Given the description of an element on the screen output the (x, y) to click on. 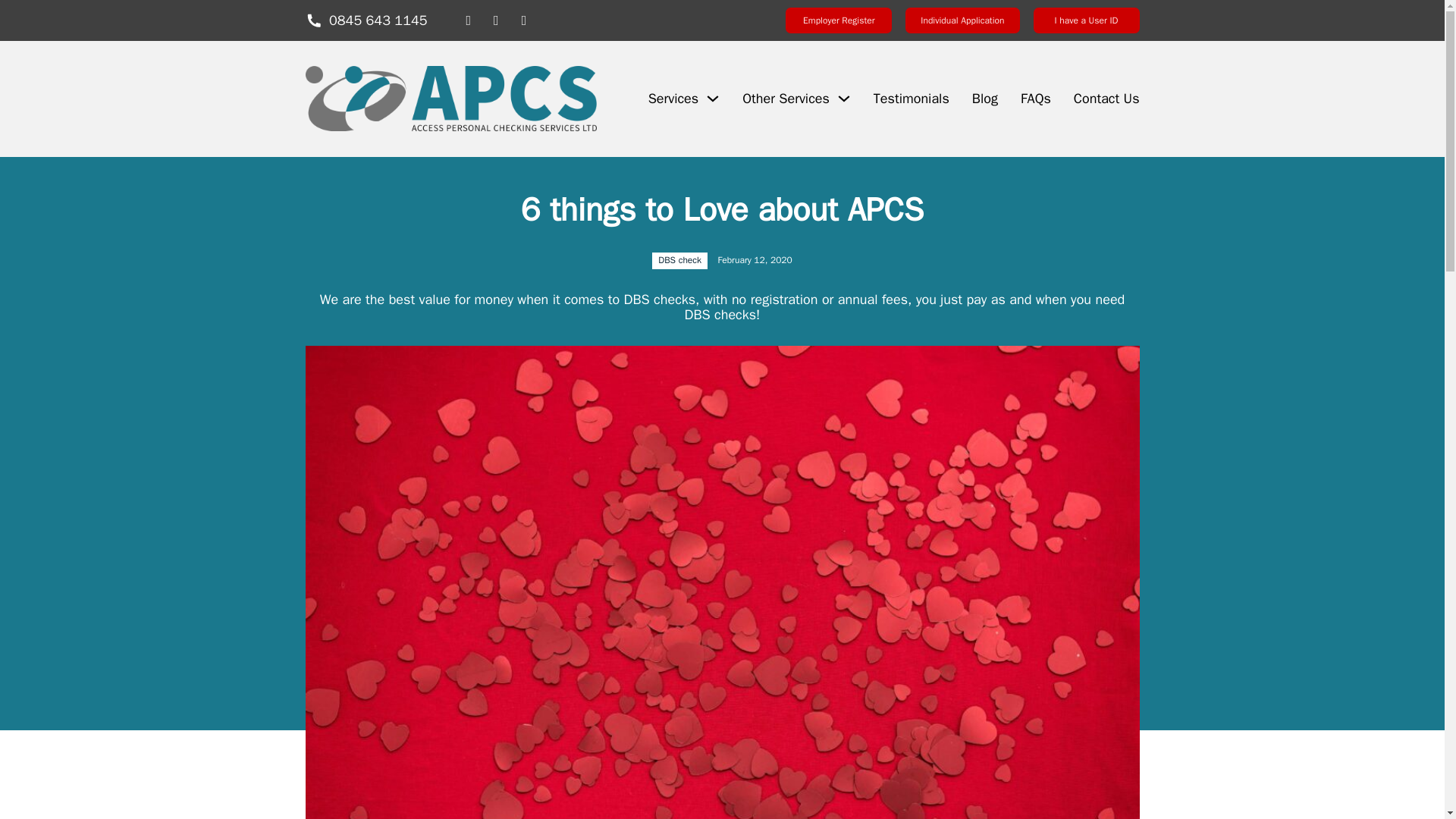
Blog (984, 98)
Contact Us (1107, 98)
Employer Register (838, 20)
I have a User ID (1085, 20)
Individual Application (962, 20)
DBS check (679, 259)
Testimonials (911, 98)
FAQs (1035, 98)
0845 643 1145 (365, 20)
